Given the description of an element on the screen output the (x, y) to click on. 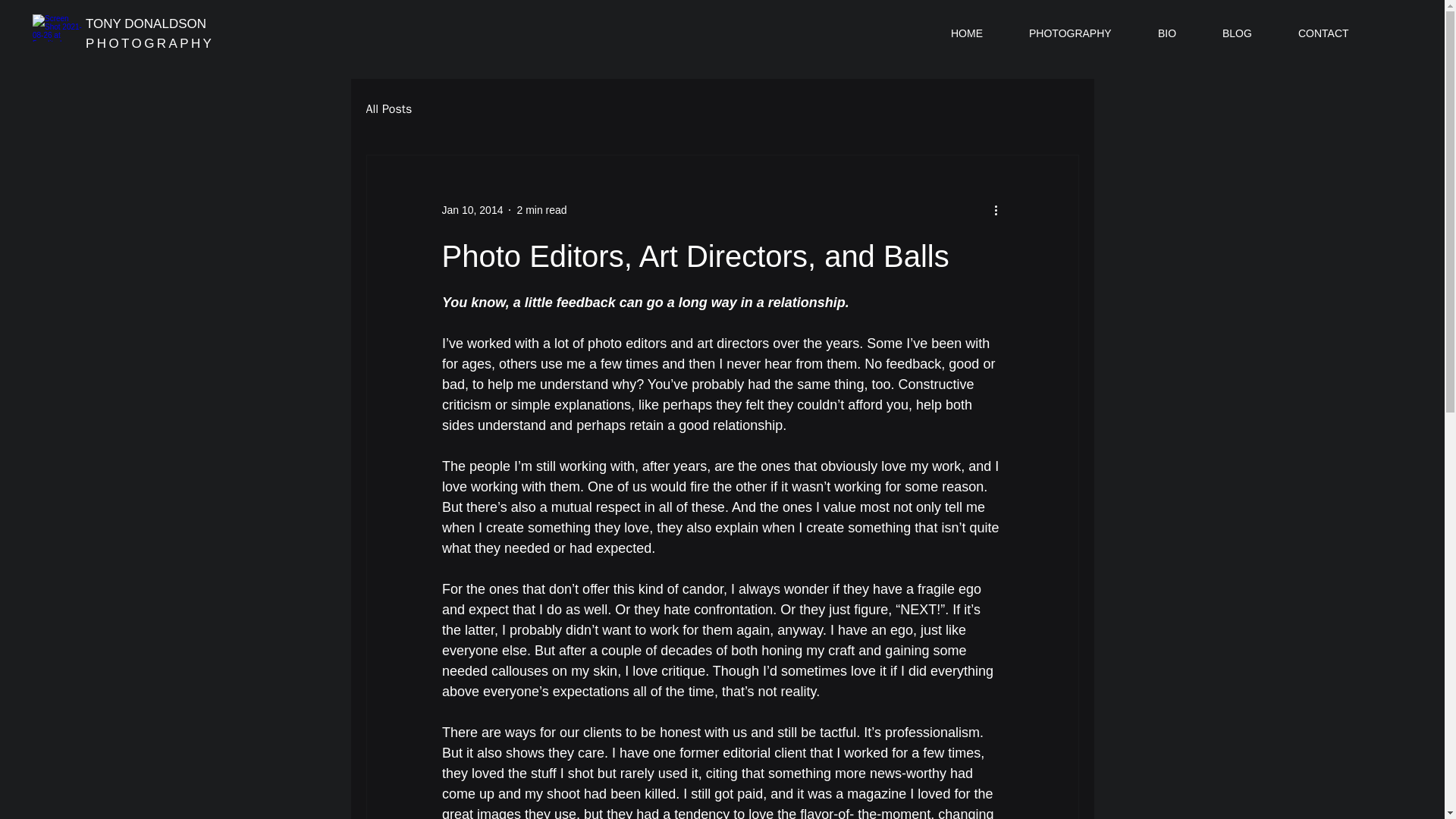
PHOTOGRAPHY (149, 43)
HOME (978, 33)
Jan 10, 2014 (471, 209)
BLOG (1249, 33)
CONTACT (1335, 33)
All Posts (388, 109)
TONY DONALDSON  (147, 23)
2 min read (541, 209)
BIO (1179, 33)
